Given the description of an element on the screen output the (x, y) to click on. 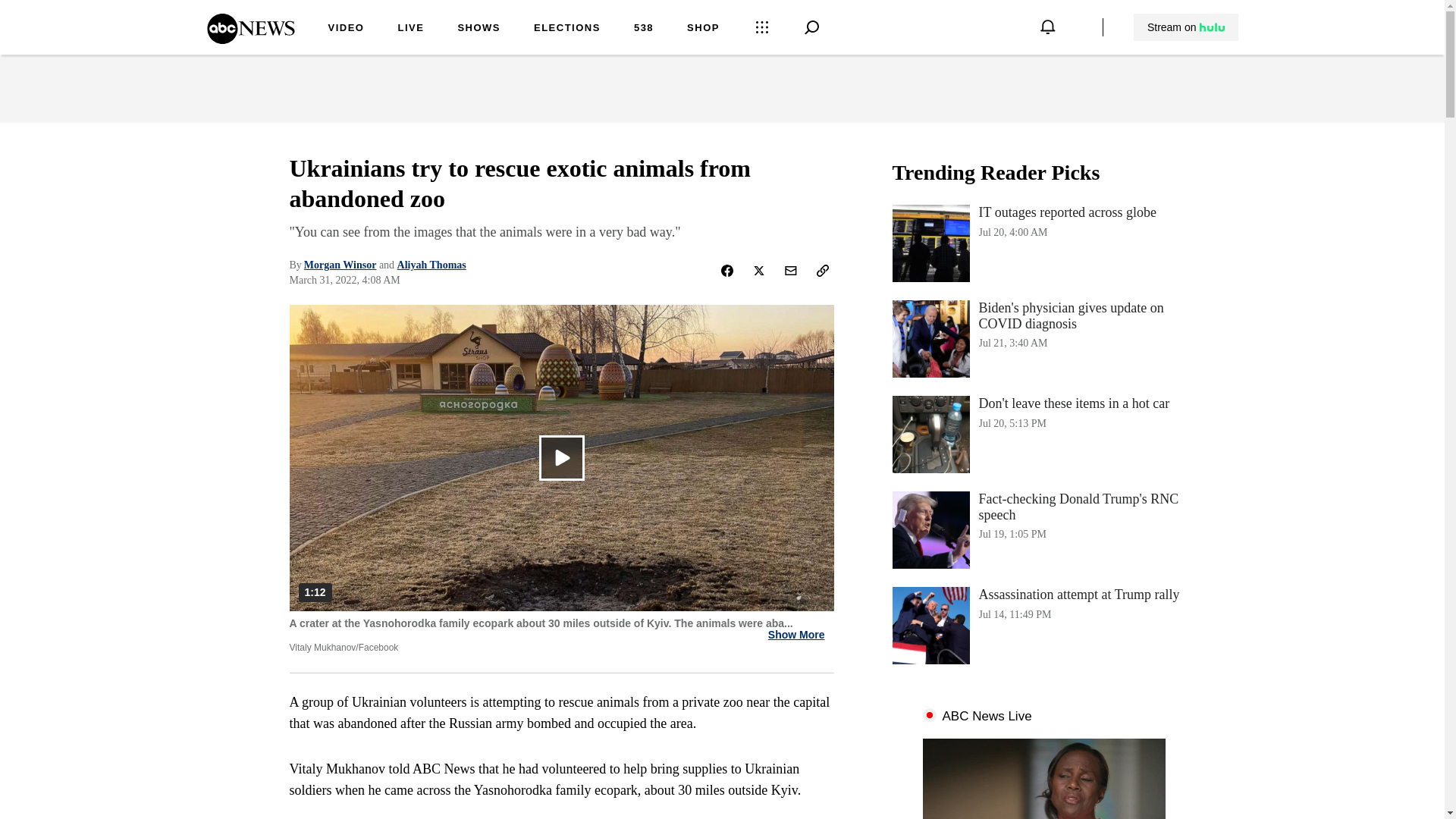
Stream on (1185, 27)
VIDEO (345, 28)
ELECTIONS (566, 28)
SHOWS (1043, 625)
Show More (1043, 434)
Aliyah Thomas (1043, 242)
Morgan Winsor (478, 28)
LIVE (796, 634)
SHOP (1043, 529)
Stream on (431, 265)
